Given the description of an element on the screen output the (x, y) to click on. 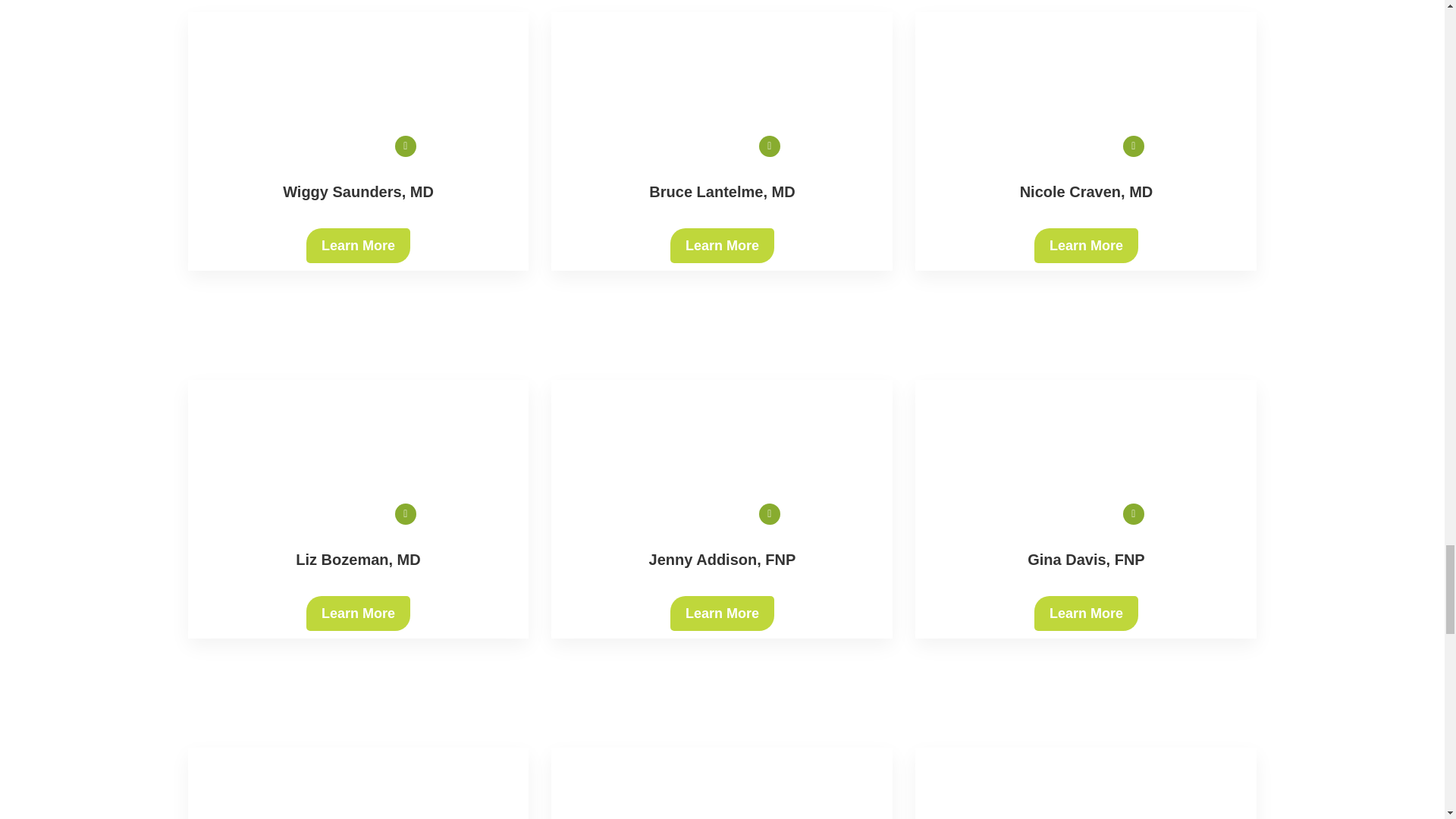
Home (357, 427)
Home (721, 90)
Home (721, 427)
Home (1085, 90)
Home (357, 90)
